Given the description of an element on the screen output the (x, y) to click on. 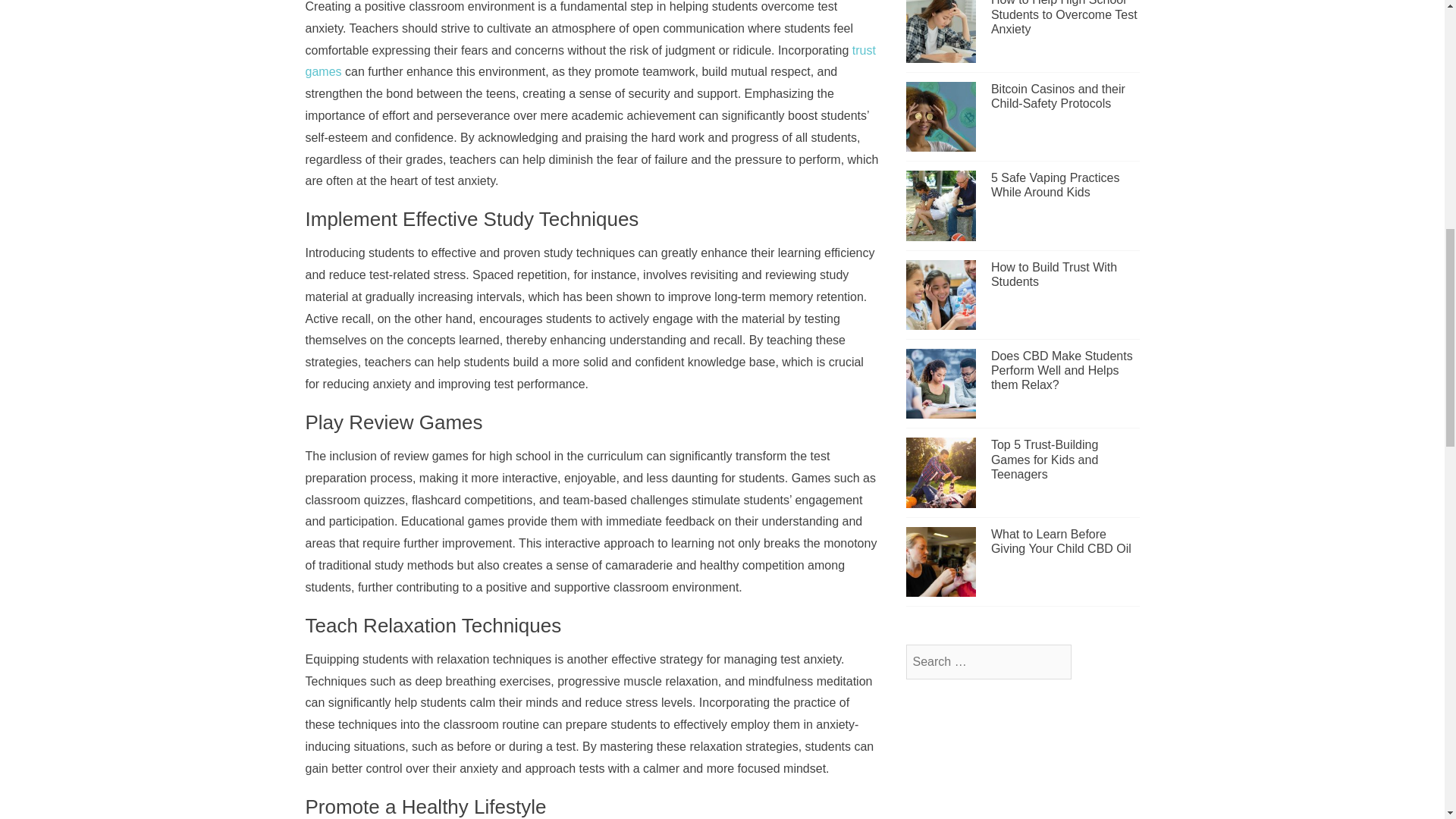
trust games (589, 61)
Bitcoin Casinos and their Child-Safety Protocols (1058, 95)
5 Safe Vaping Practices While Around Kids (1055, 185)
Does CBD Make Students Perform Well and Helps them Relax? (1061, 370)
How to Build Trust With Students (1053, 274)
Top 5 Trust-Building Games for Kids and Teenagers (1044, 458)
How to Help High School Students to Overcome Test Anxiety (1064, 17)
What to Learn Before Giving Your Child CBD Oil (1061, 541)
